Given the description of an element on the screen output the (x, y) to click on. 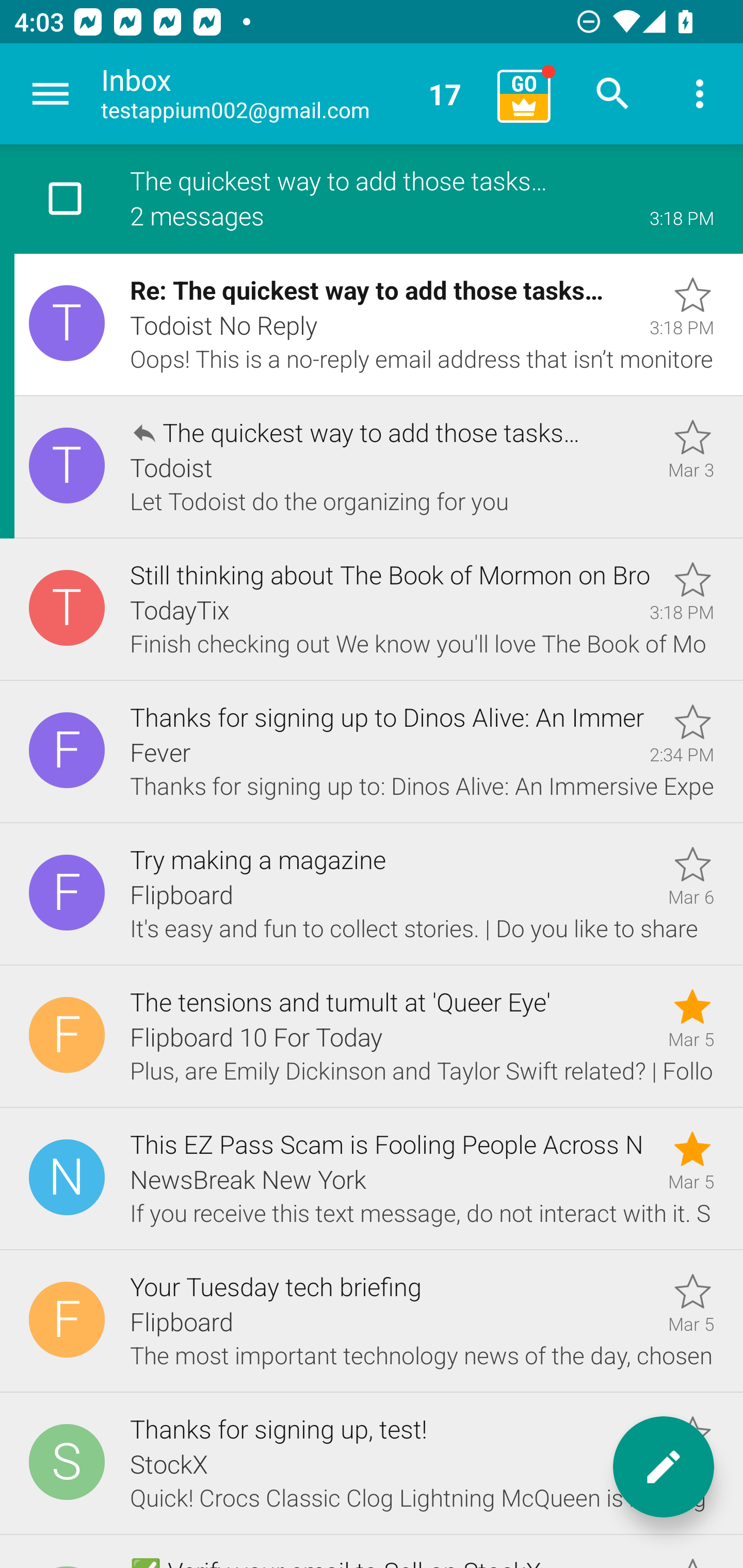
Navigate up (50, 93)
Inbox testappium002@gmail.com 17 (291, 93)
Search (612, 93)
More options (699, 93)
New message (663, 1466)
